Given the description of an element on the screen output the (x, y) to click on. 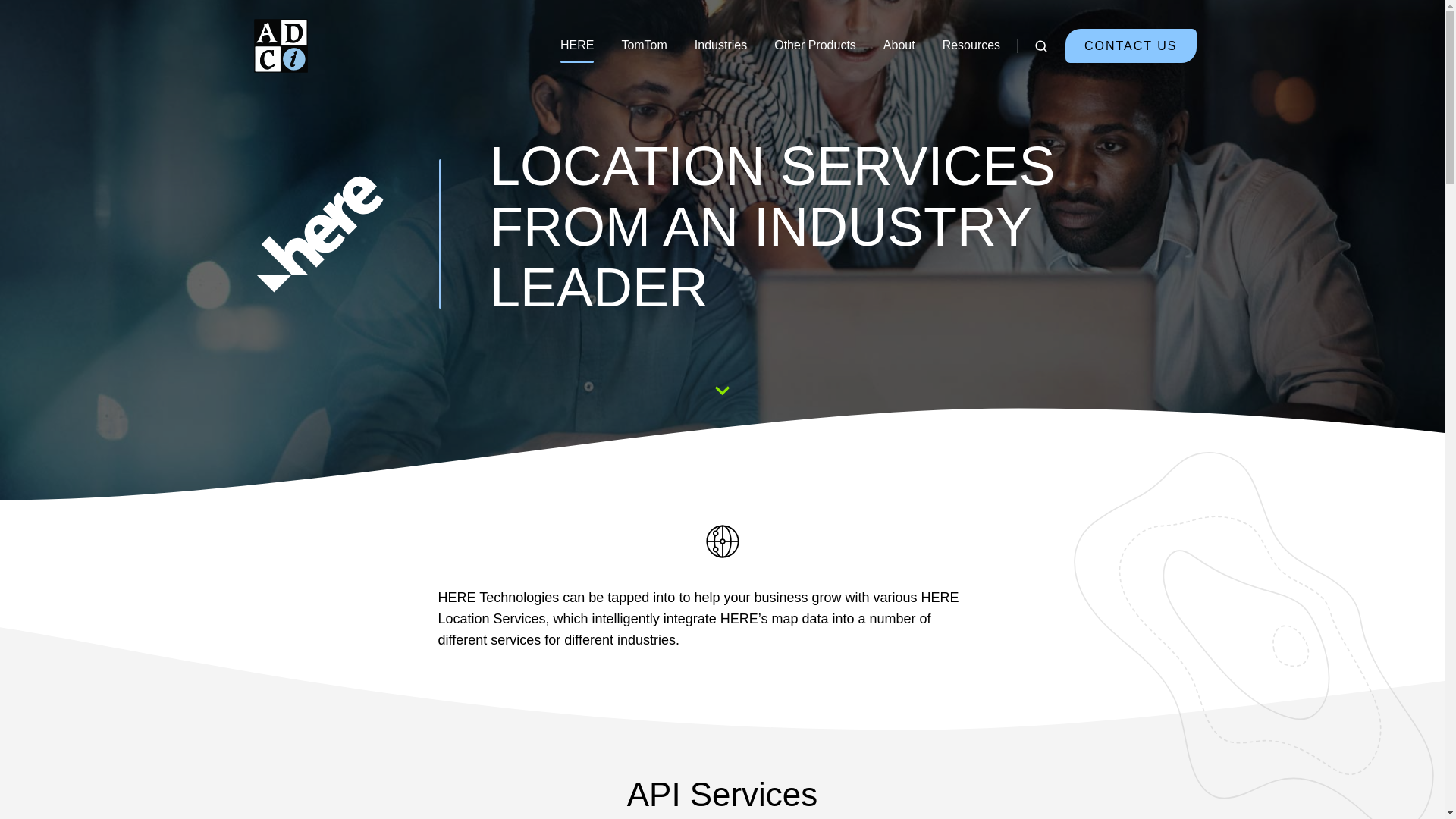
TomTom (643, 45)
Resources (971, 45)
About (899, 45)
HERE (577, 45)
CONTACT US (1130, 45)
Scroll (721, 389)
Industries (720, 45)
Other Products (815, 45)
Scroll (722, 388)
adci-logo (280, 45)
